Given the description of an element on the screen output the (x, y) to click on. 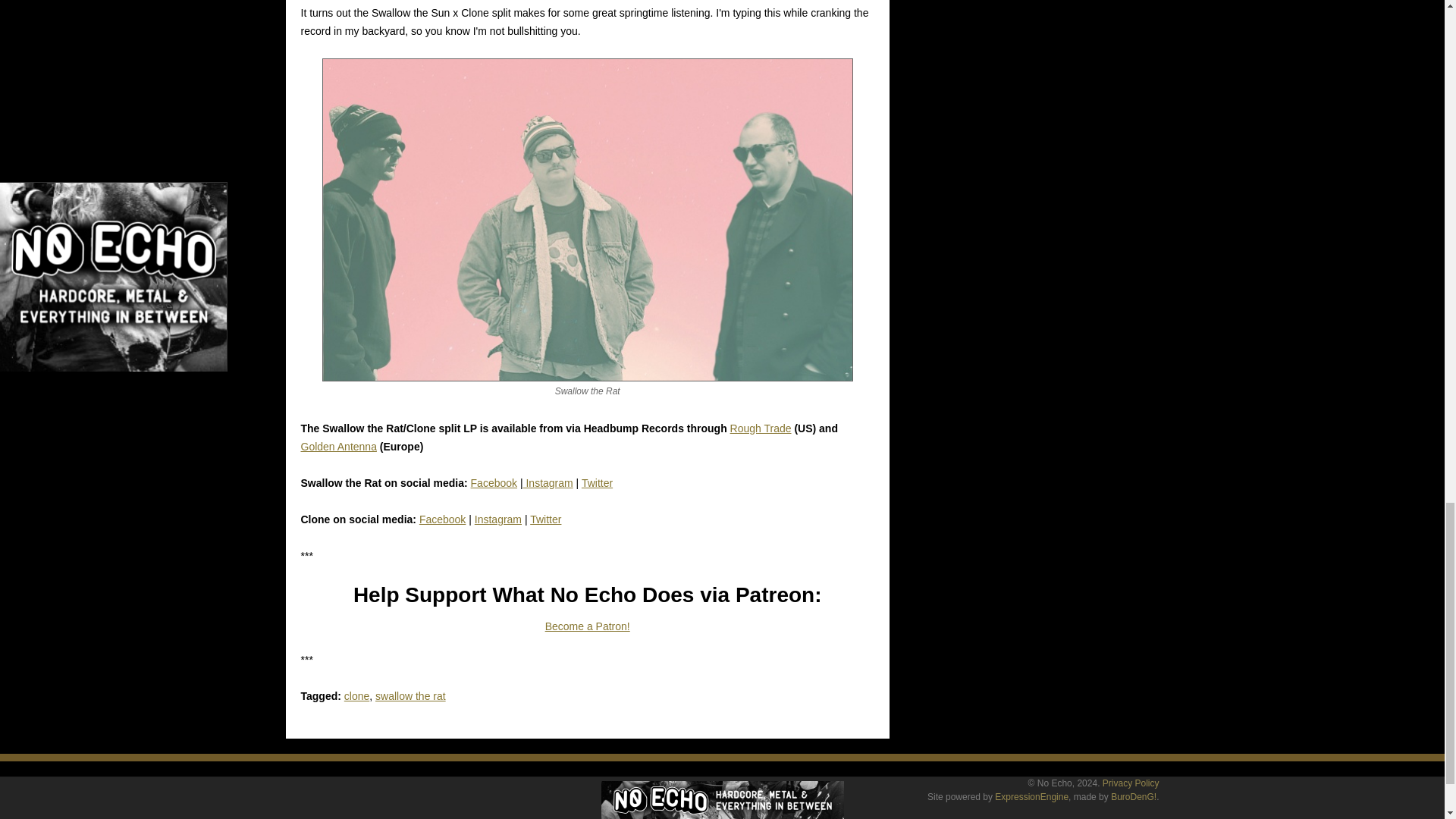
Rough Trade (761, 428)
Instagram (497, 519)
Facebook (442, 519)
Golden Antenna (337, 446)
Instagram (547, 482)
swallow the rat (410, 695)
Twitter (596, 482)
Become a Patron! (587, 625)
clone (356, 695)
Facebook (493, 482)
Twitter (544, 519)
